Given the description of an element on the screen output the (x, y) to click on. 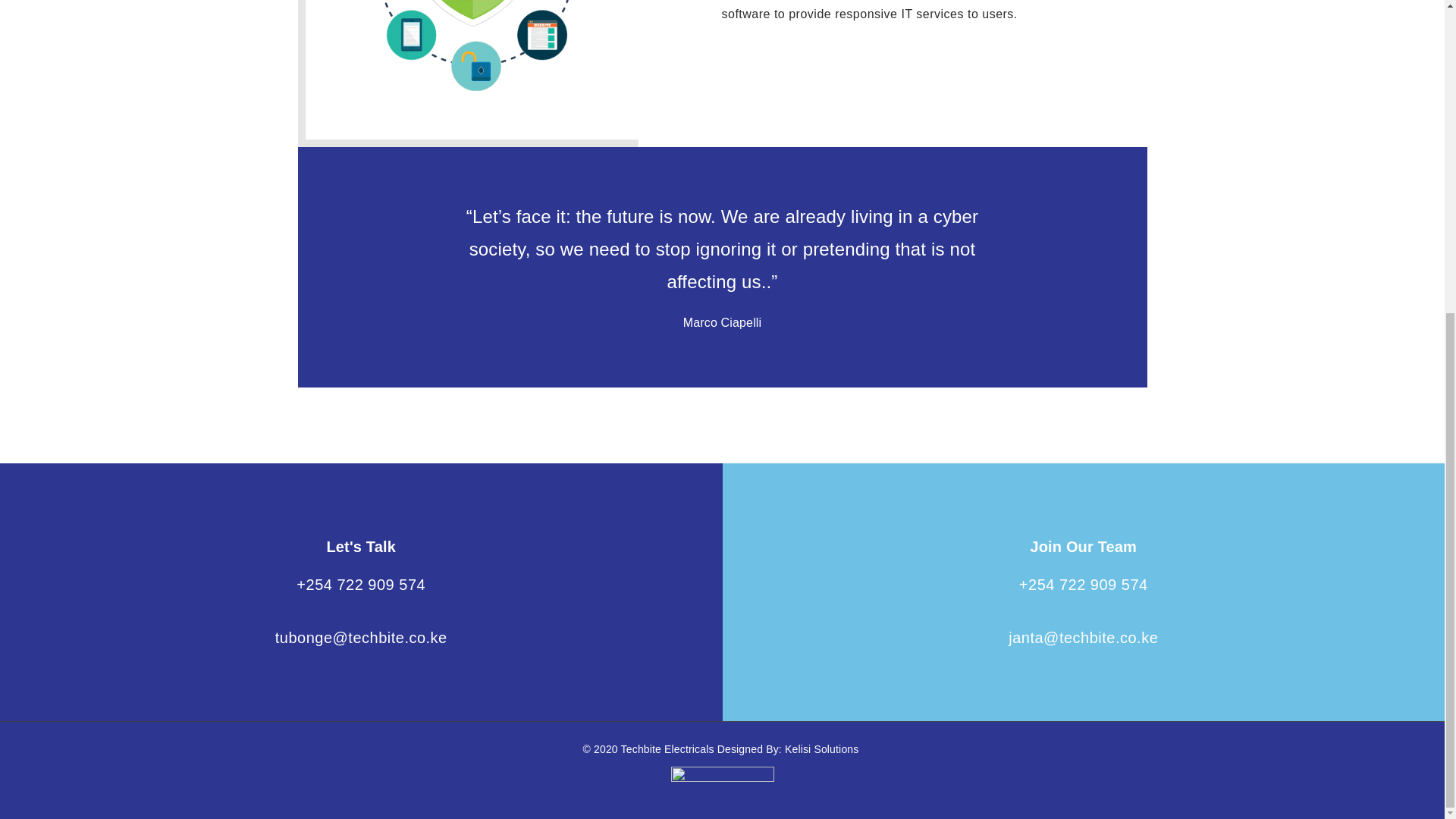
Kelisi Solutions (821, 748)
Techbite Electricals (669, 748)
Zakra Professional (669, 748)
Zakra (821, 748)
